Given the description of an element on the screen output the (x, y) to click on. 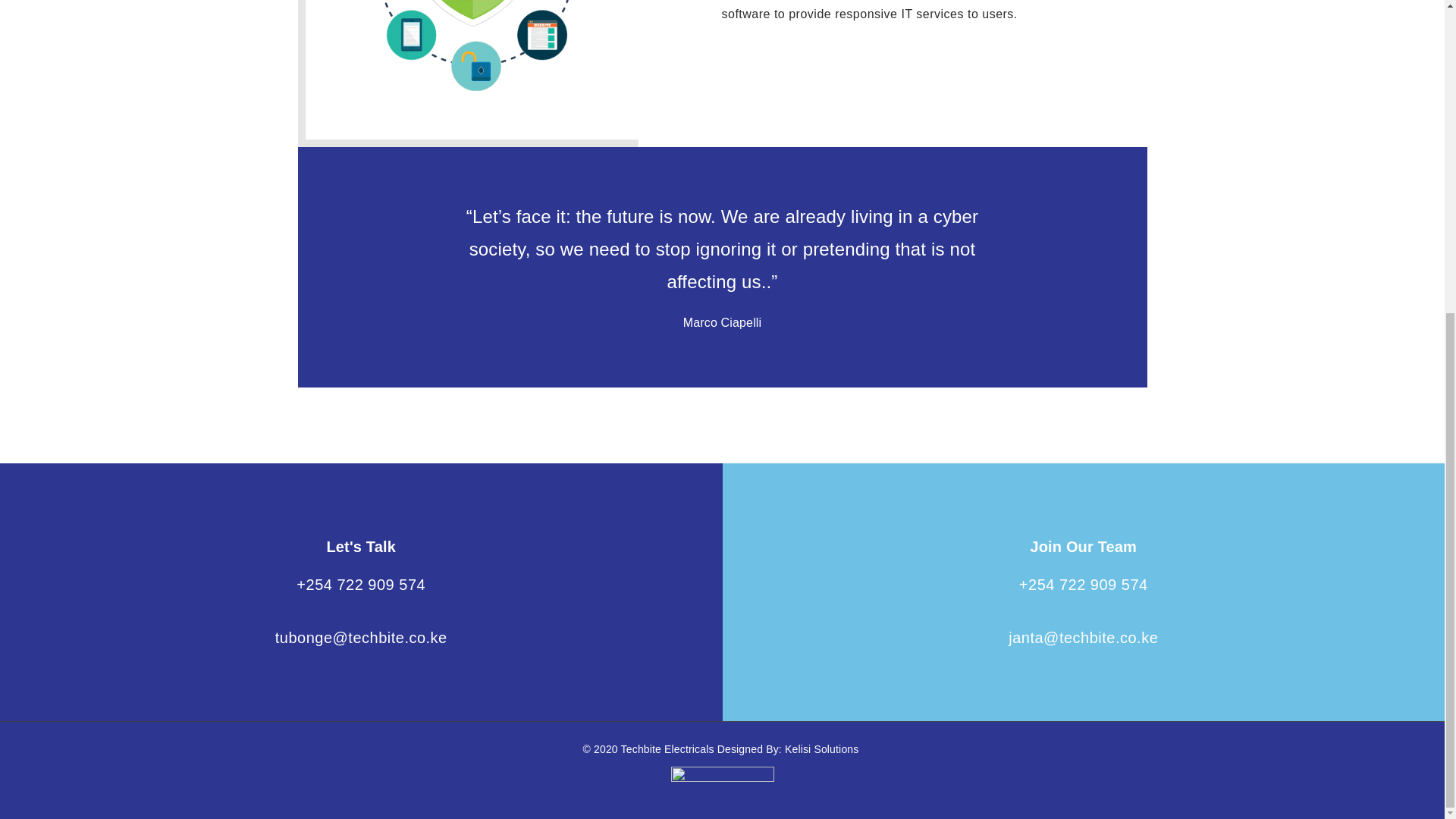
Kelisi Solutions (821, 748)
Techbite Electricals (669, 748)
Zakra Professional (669, 748)
Zakra (821, 748)
